Given the description of an element on the screen output the (x, y) to click on. 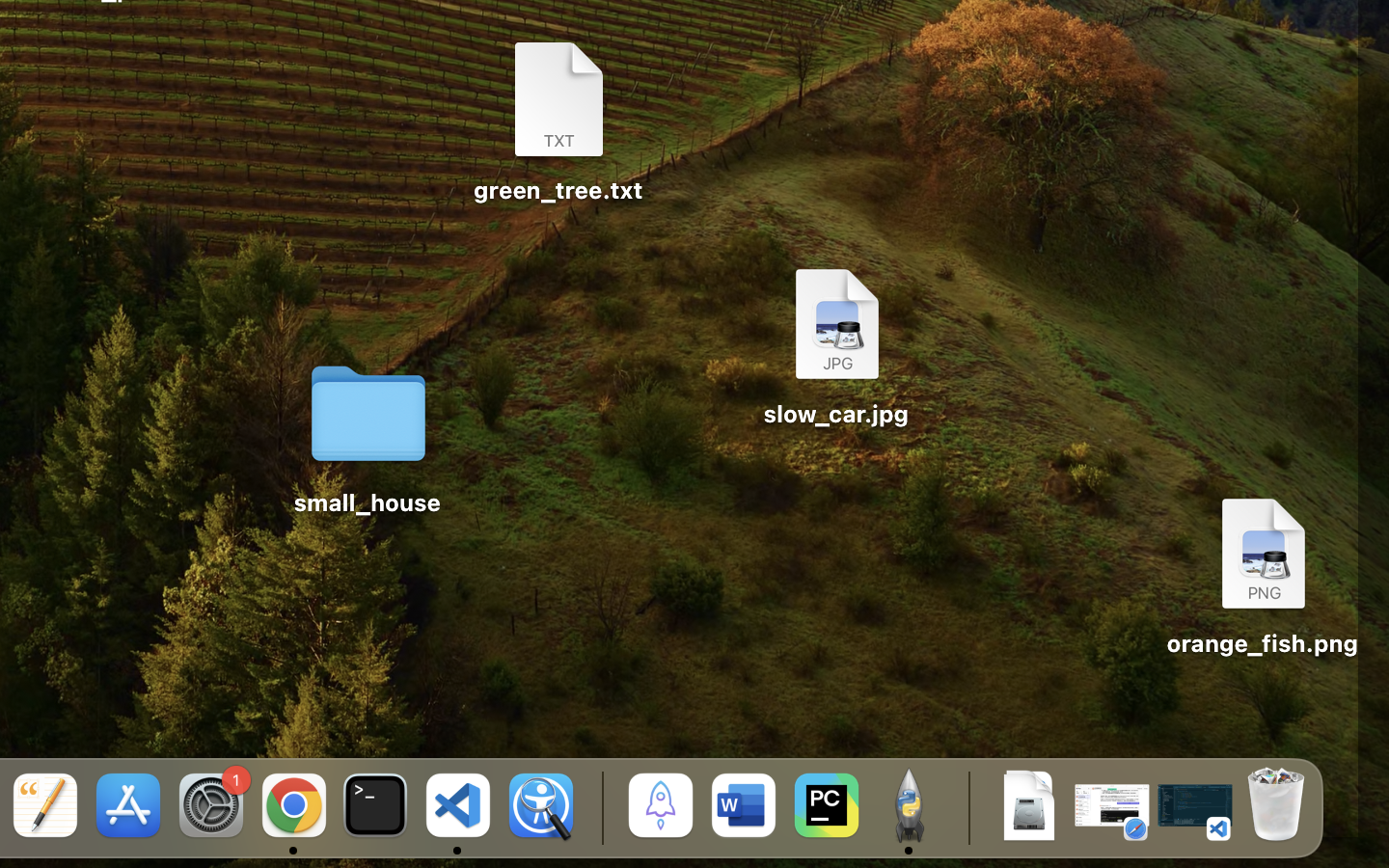
0.4285714328289032 Element type: AXDockItem (598, 807)
